Given the description of an element on the screen output the (x, y) to click on. 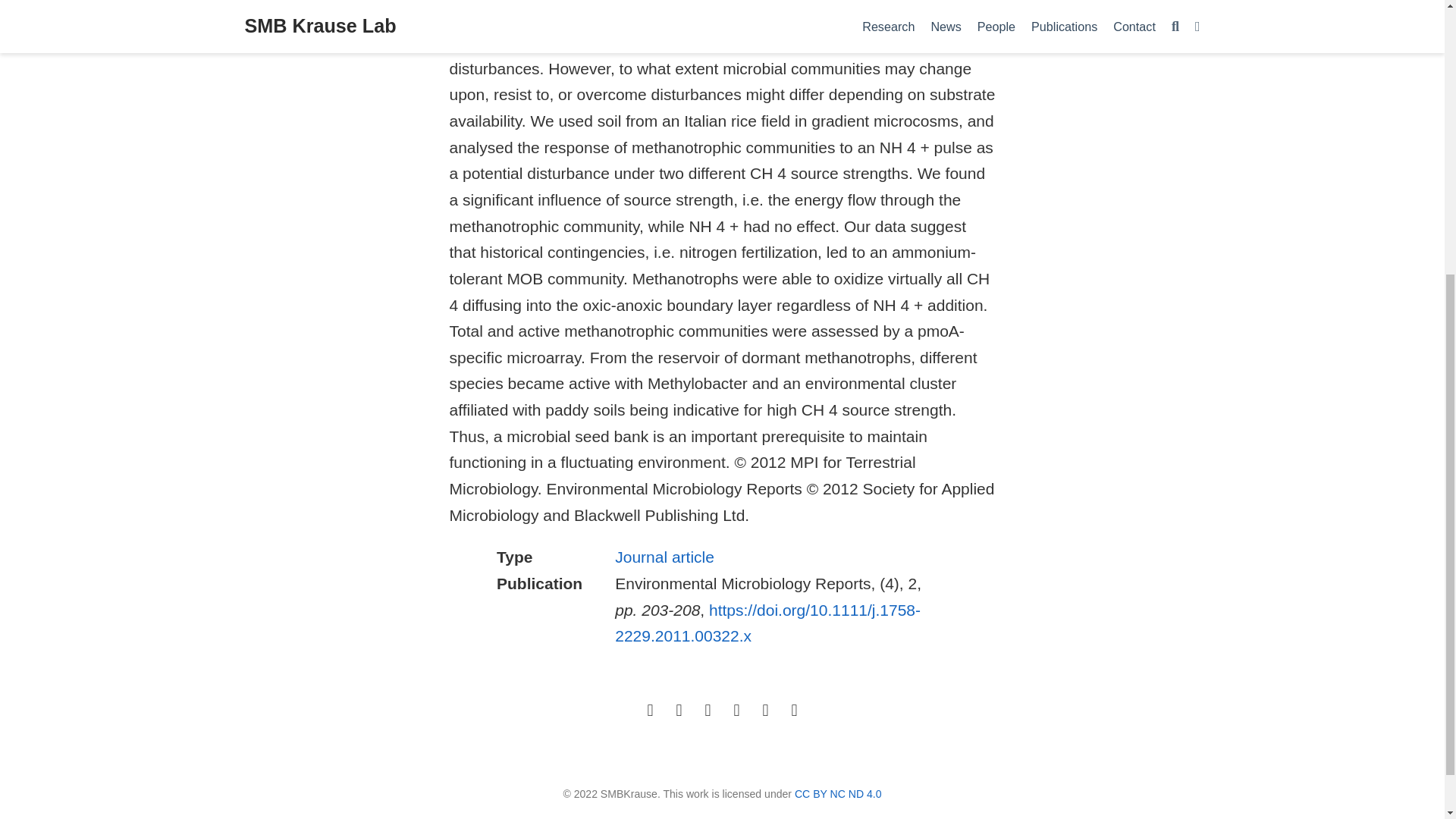
CC BY NC ND 4.0 (838, 793)
Journal article (664, 556)
